Given the description of an element on the screen output the (x, y) to click on. 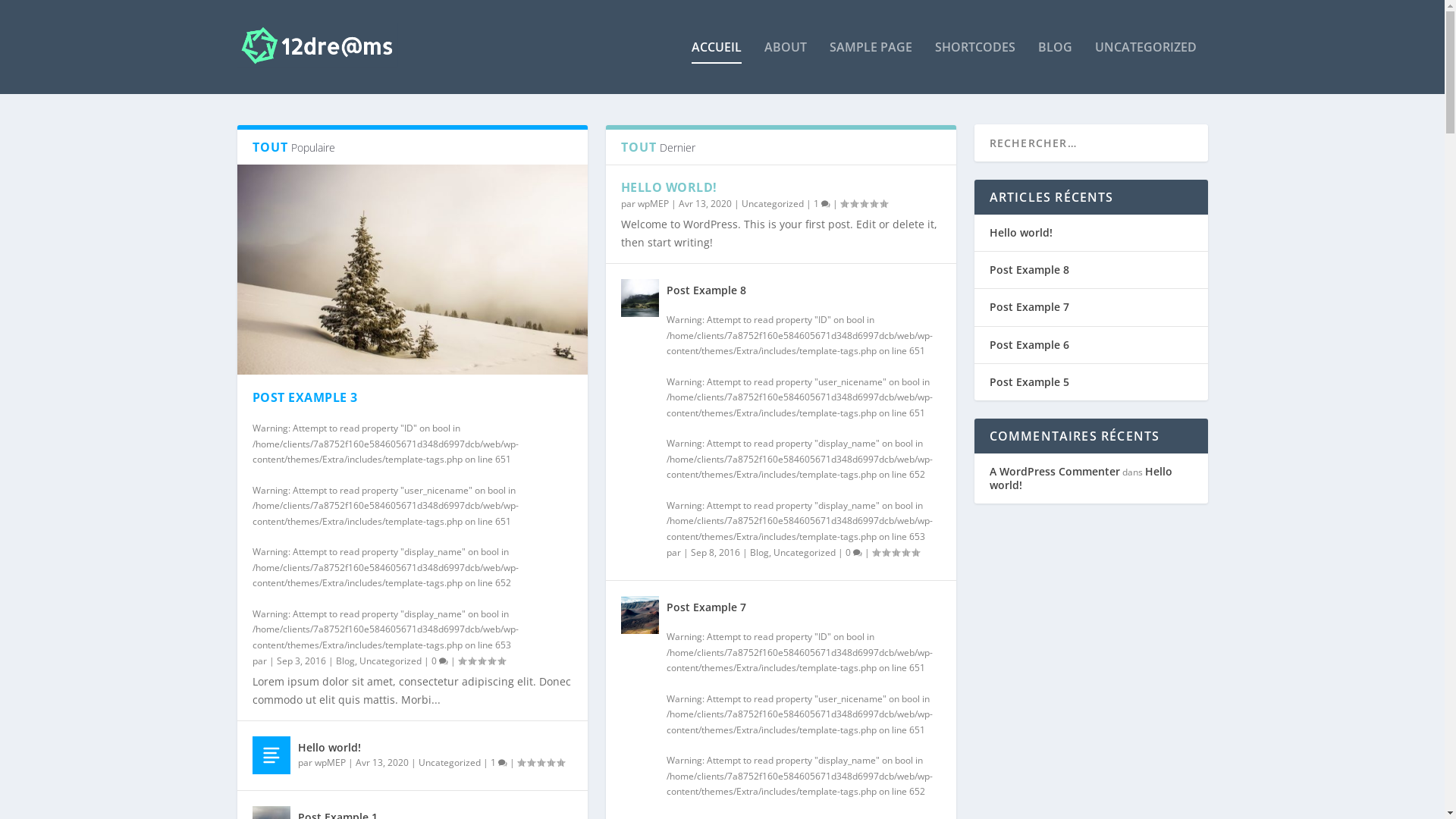
ACCUEIL Element type: text (716, 67)
Uncategorized Element type: text (390, 660)
ABOUT Element type: text (785, 67)
1 Element type: text (820, 203)
wpMEP Element type: text (652, 203)
compteur de commentaire Element type: hover (442, 661)
compteur de commentaire Element type: hover (856, 553)
SAMPLE PAGE Element type: text (870, 67)
wpMEP Element type: text (329, 762)
Post Example 8 Element type: text (705, 289)
compteur de commentaire Element type: hover (501, 763)
POST EXAMPLE 3 Element type: text (304, 397)
UNCATEGORIZED Element type: text (1145, 67)
A WordPress Commenter Element type: text (1053, 471)
Post Example 5 Element type: text (1028, 381)
Post Example 7 Element type: text (1028, 306)
Hello world! Element type: text (1019, 232)
Post Example 8 Element type: text (1028, 269)
1 Element type: text (497, 762)
Post Example 3 Element type: hover (411, 269)
Note:0.00 Element type: hover (895, 552)
Blog Element type: text (758, 552)
0 Element type: text (852, 552)
Note:0.00 Element type: hover (481, 660)
compteur de commentaire Element type: hover (824, 204)
Note:0.00 Element type: hover (863, 203)
HELLO WORLD! Element type: text (668, 186)
Note:0.00 Element type: hover (540, 762)
Post Example 7 Element type: text (705, 606)
Hello world! Element type: text (1079, 478)
Rechercher Element type: text (43, 14)
BLOG Element type: text (1054, 67)
Post Example 8 Element type: hover (639, 297)
Post Example 7 Element type: hover (639, 614)
SHORTCODES Element type: text (974, 67)
Blog Element type: text (344, 660)
Uncategorized Element type: text (772, 203)
Hello world! Element type: hover (270, 755)
Uncategorized Element type: text (804, 552)
0 Element type: text (438, 660)
Post Example 6 Element type: text (1028, 344)
Uncategorized Element type: text (449, 762)
Hello world! Element type: text (328, 747)
